Given the description of an element on the screen output the (x, y) to click on. 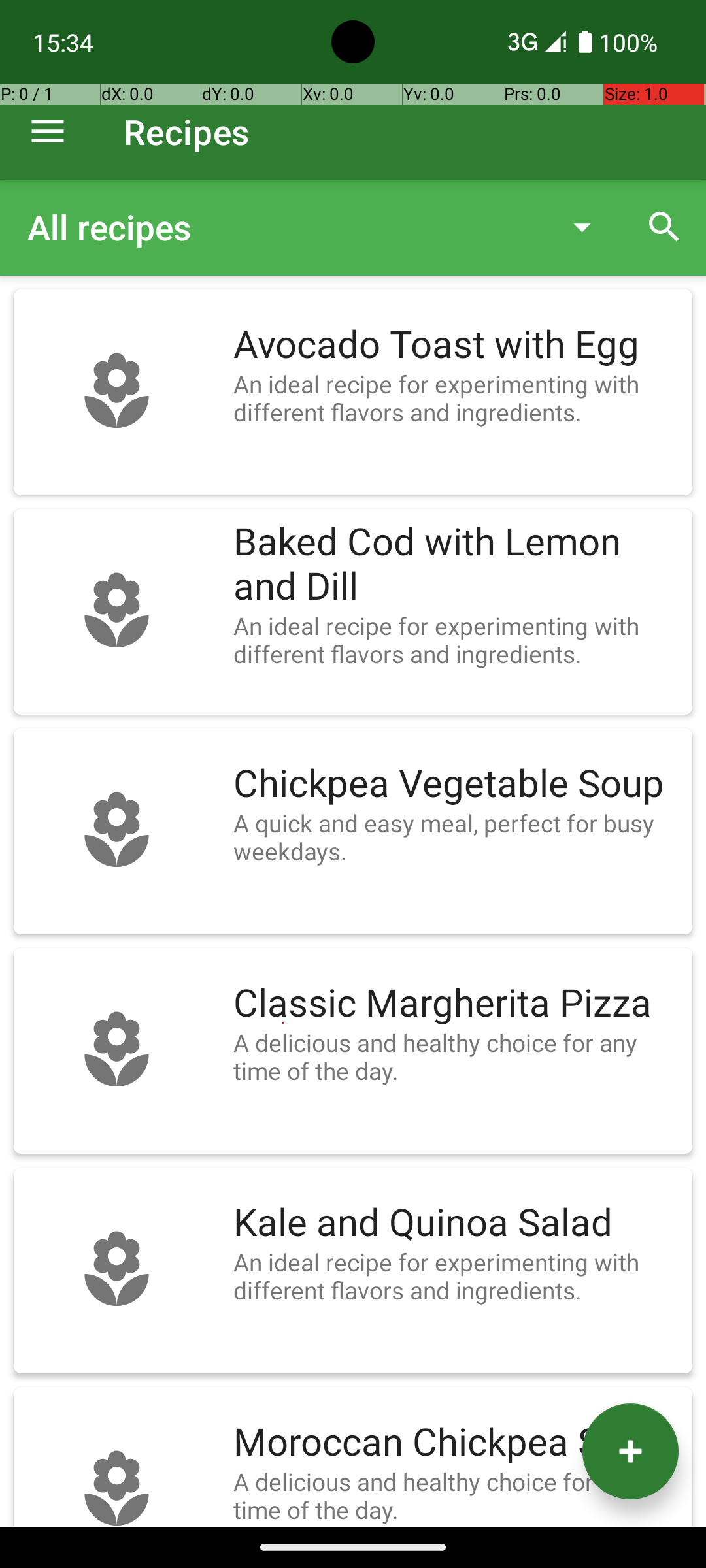
New Recipe Element type: android.widget.ImageButton (630, 1451)
All recipes Element type: android.widget.TextView (283, 226)
Avocado Toast with Egg Element type: android.widget.TextView (455, 344)
An ideal recipe for experimenting with different flavors and ingredients. Element type: android.widget.TextView (455, 397)
Baked Cod with Lemon and Dill Element type: android.widget.TextView (455, 564)
Chickpea Vegetable Soup Element type: android.widget.TextView (455, 783)
A quick and easy meal, perfect for busy weekdays. Element type: android.widget.TextView (455, 836)
Classic Margherita Pizza Element type: android.widget.TextView (455, 1003)
A delicious and healthy choice for any time of the day. Element type: android.widget.TextView (455, 1056)
Kale and Quinoa Salad Element type: android.widget.TextView (455, 1222)
Moroccan Chickpea Stew Element type: android.widget.TextView (455, 1442)
